Given the description of an element on the screen output the (x, y) to click on. 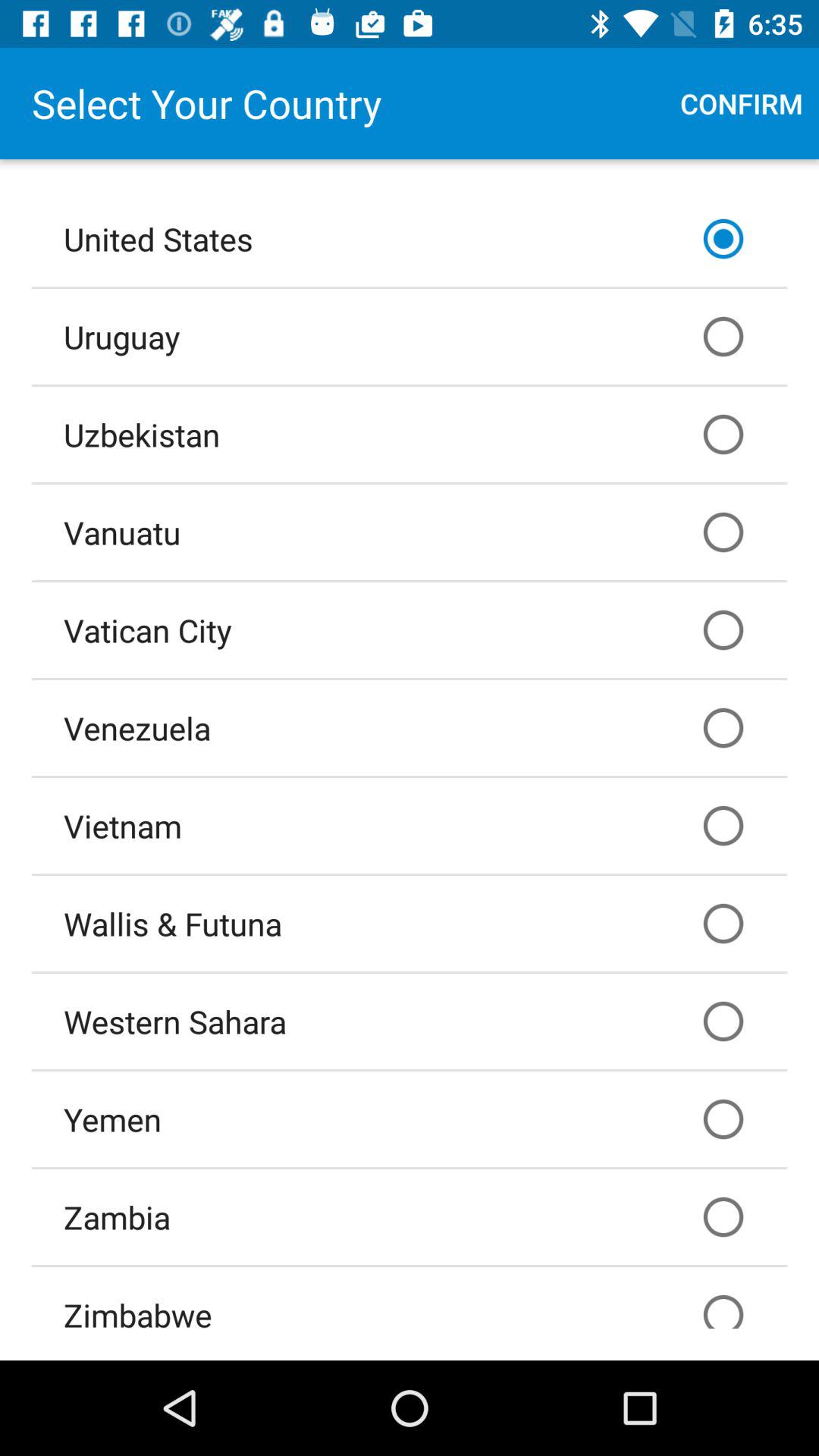
turn on the item below western sahara item (409, 1119)
